Given the description of an element on the screen output the (x, y) to click on. 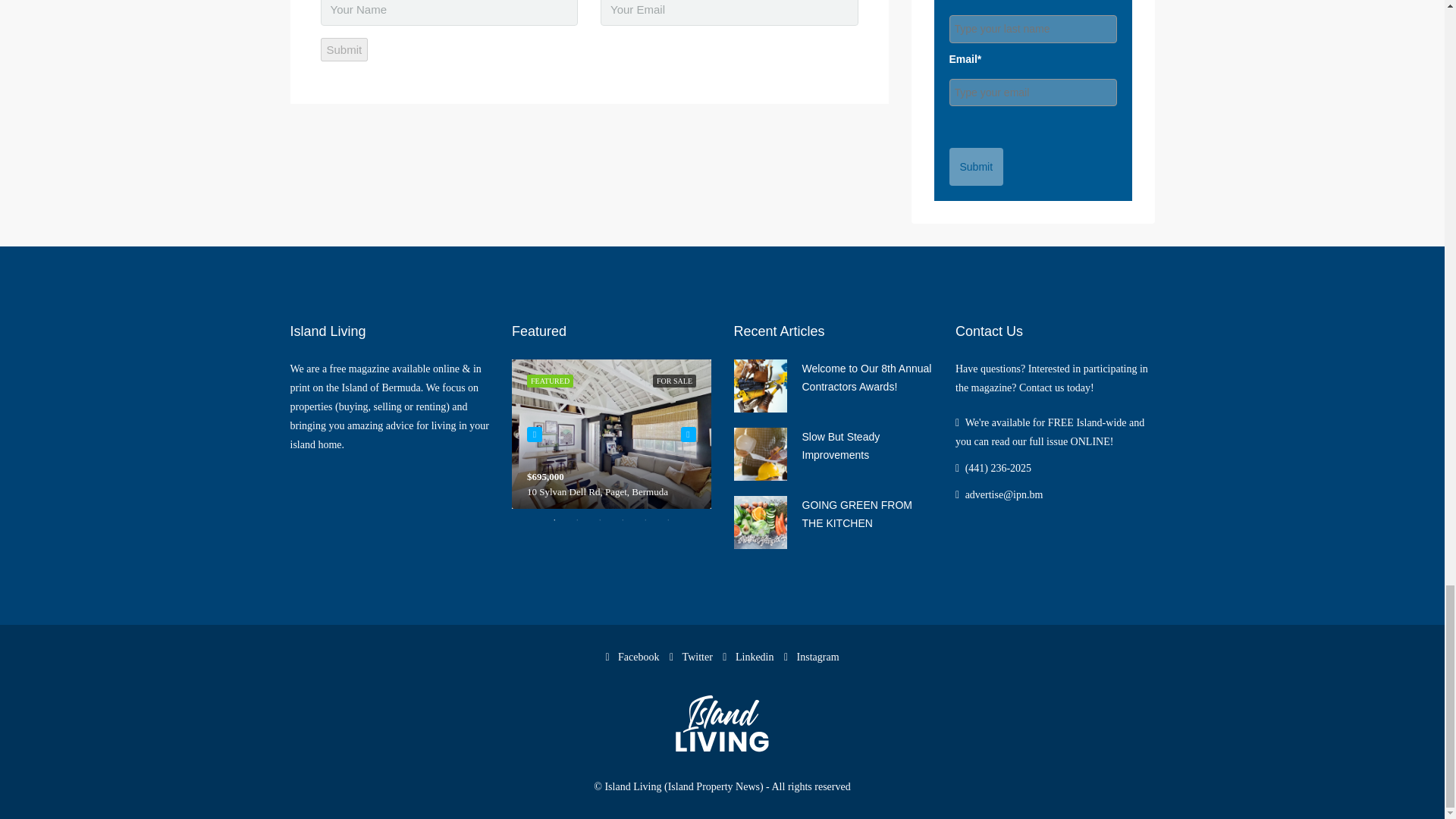
Submit (344, 49)
